Given the description of an element on the screen output the (x, y) to click on. 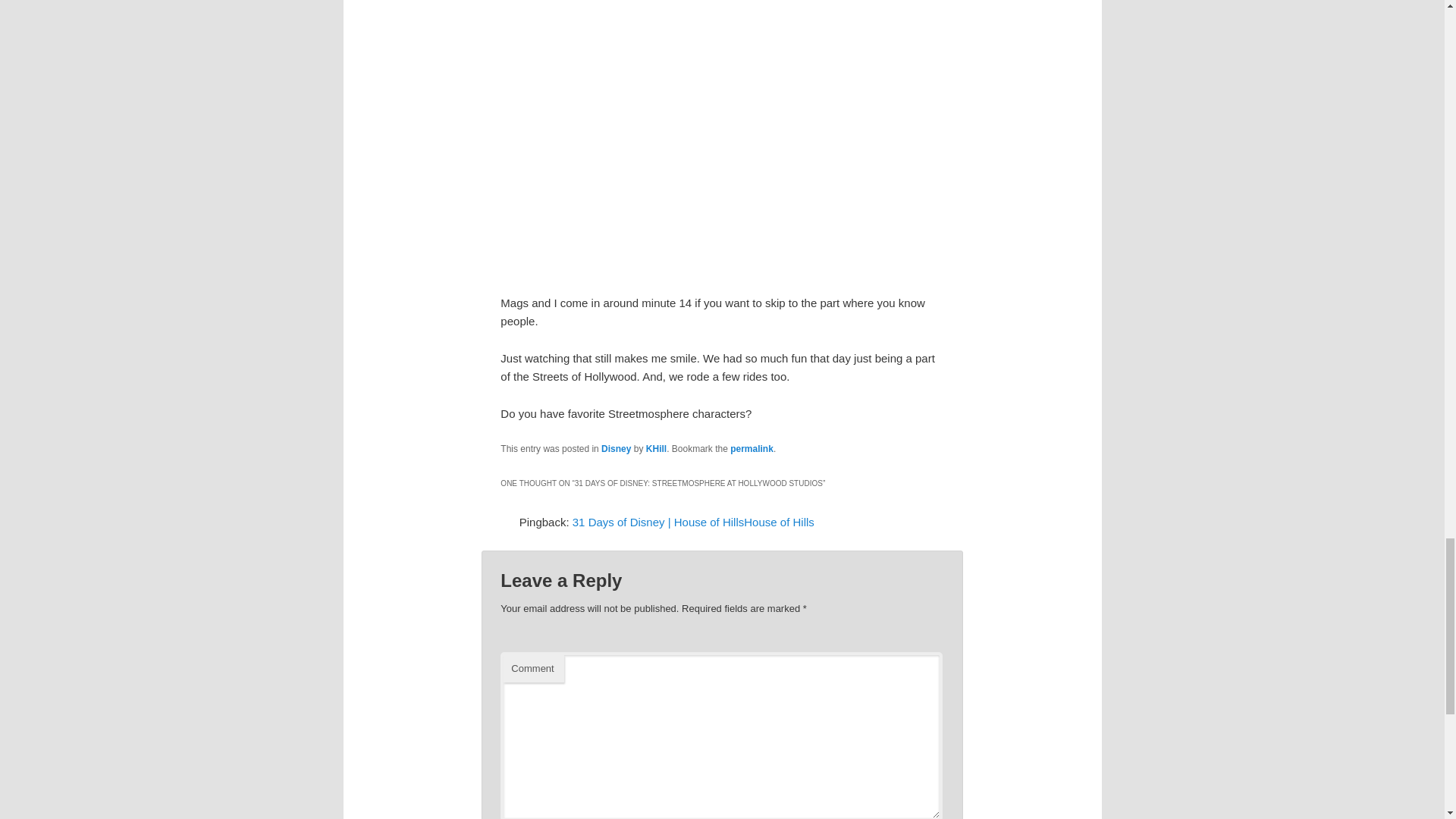
permalink (751, 448)
KHill (656, 448)
Disney (615, 448)
